Given the description of an element on the screen output the (x, y) to click on. 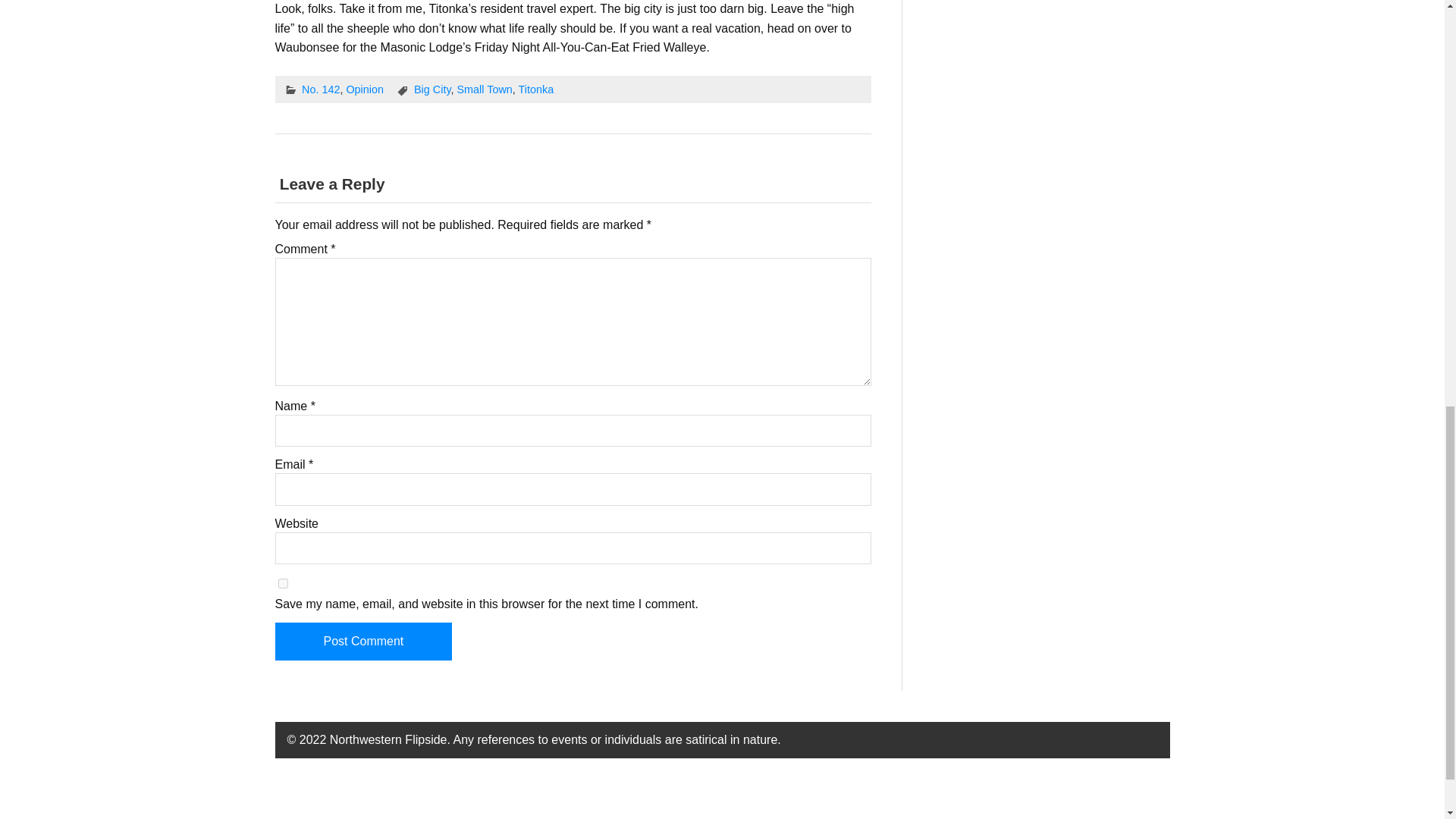
Opinion (365, 89)
Titonka (536, 89)
No. 142 (320, 89)
yes (282, 583)
Small Town (484, 89)
Big City (432, 89)
Post Comment (363, 641)
Post Comment (363, 641)
